Given the description of an element on the screen output the (x, y) to click on. 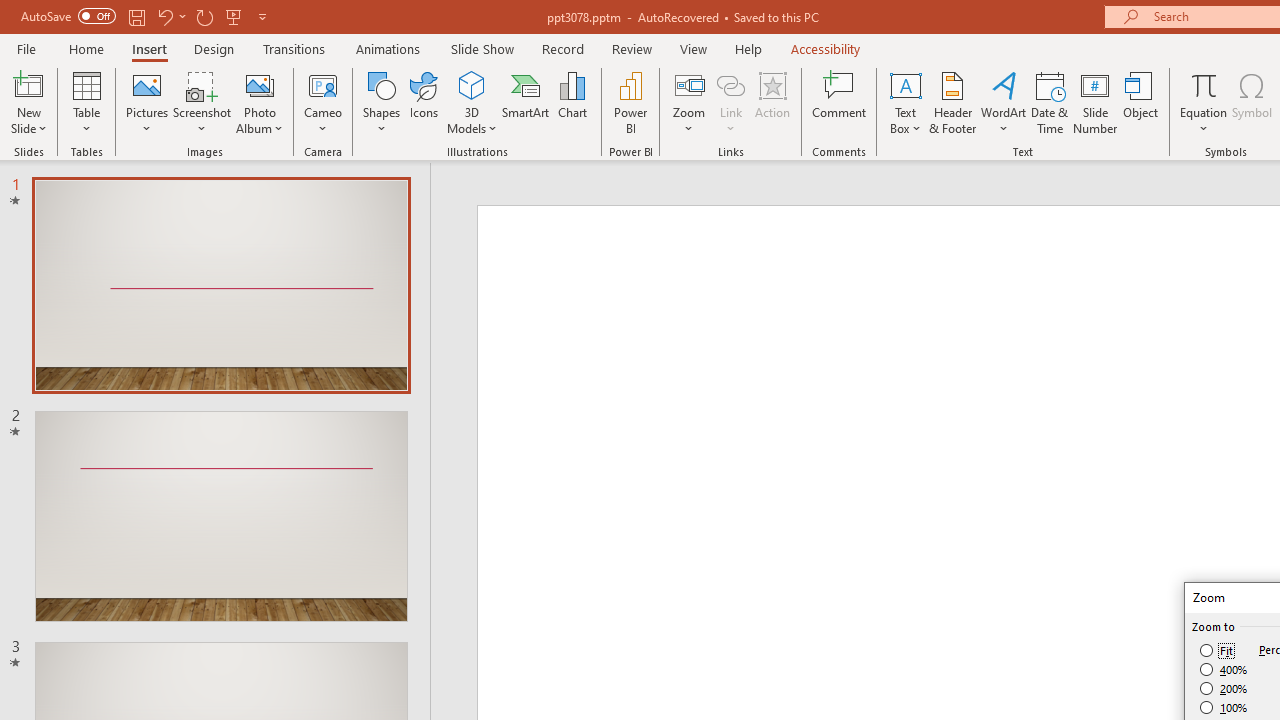
Table (86, 102)
Slide Number (1095, 102)
Cameo (323, 84)
New Photo Album... (259, 84)
Symbol... (1252, 102)
Fit (1217, 650)
Pictures (147, 102)
Icons (424, 102)
100% (1224, 707)
